Given the description of an element on the screen output the (x, y) to click on. 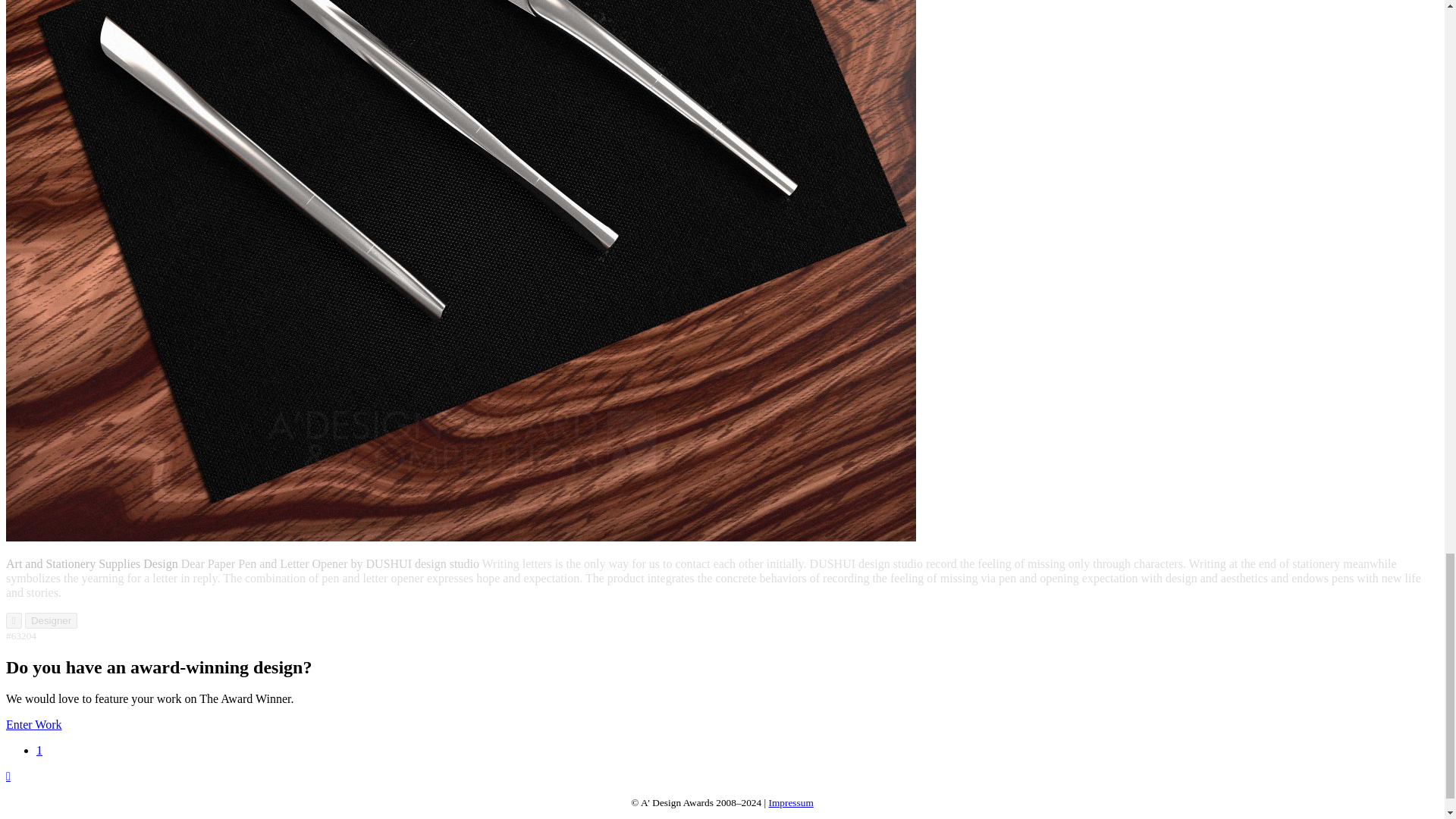
Impressum (790, 802)
Enter Work (33, 724)
Designer (50, 620)
